Given the description of an element on the screen output the (x, y) to click on. 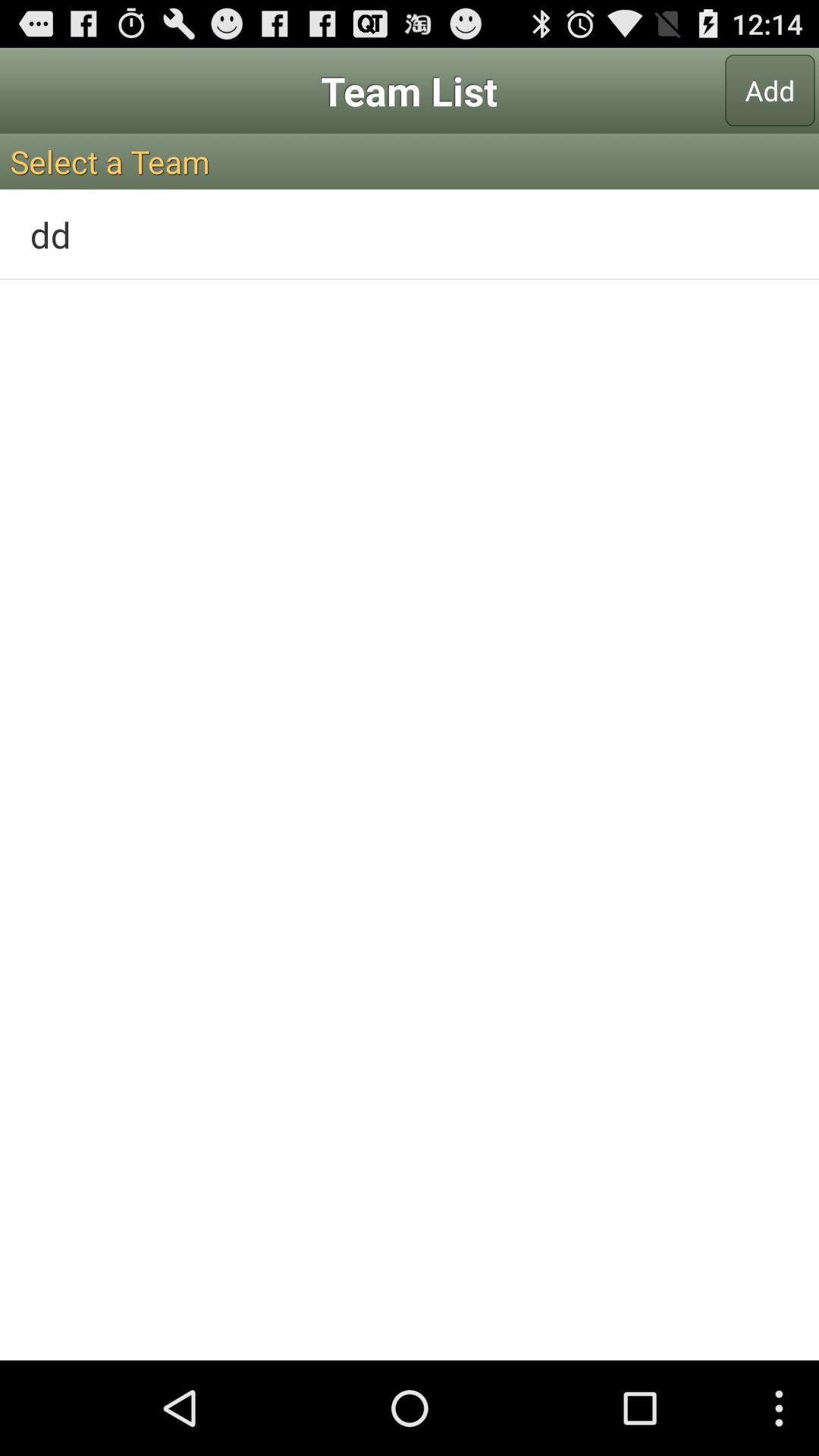
select item at the top right corner (770, 90)
